Given the description of an element on the screen output the (x, y) to click on. 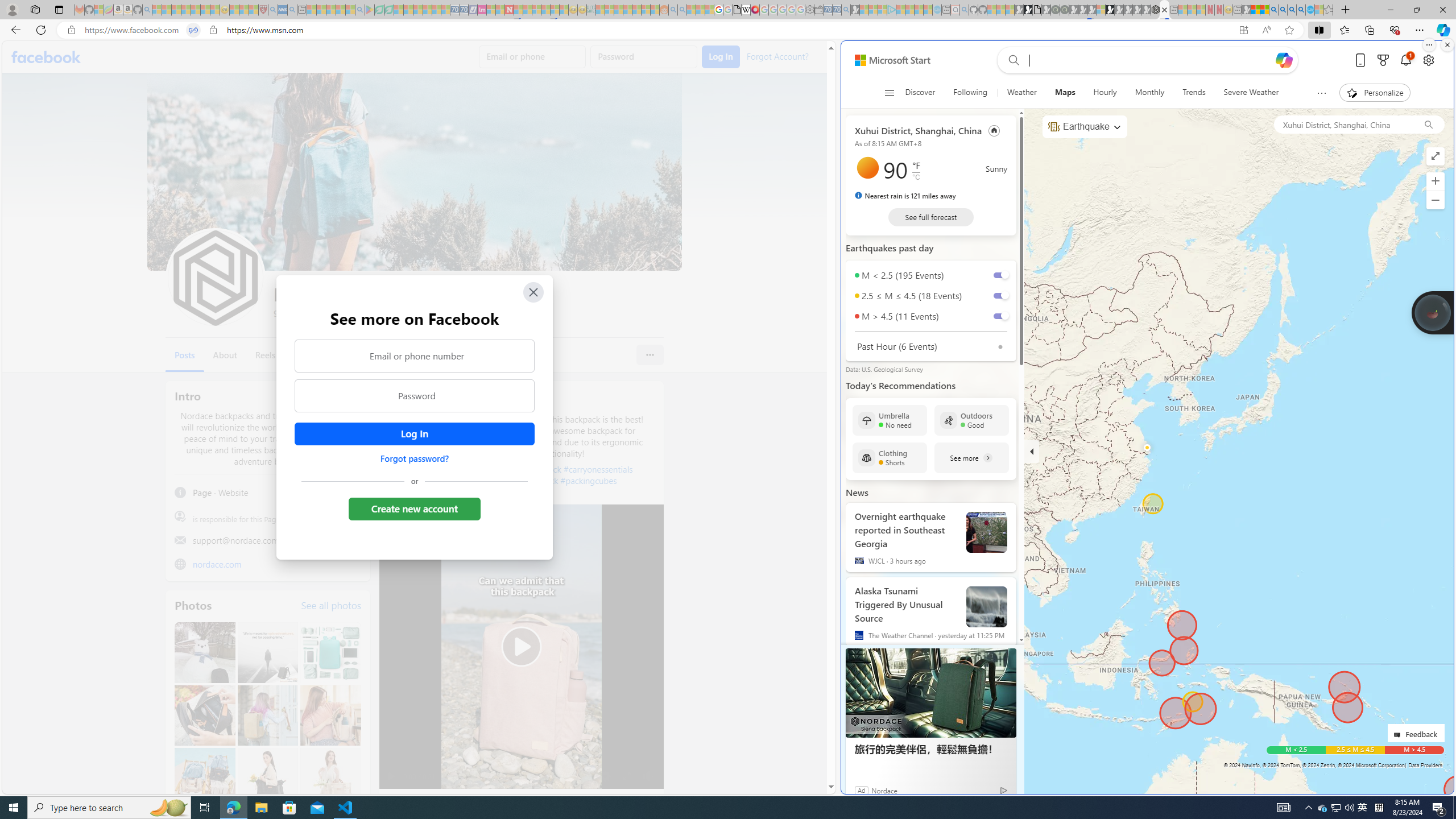
Xuhui District, Shanghai, China (1342, 124)
Trusted Community Engagement and Contributions | Guidelines (518, 9)
Trends (1193, 92)
Nearest rain is 121 miles away (905, 195)
Microsoft Start Gaming - Sleeping (854, 9)
The Weather Channel - MSN - Sleeping (175, 9)
Tabs in split screen (193, 29)
The Weather Channel (858, 634)
Hide (1032, 450)
Discover (924, 92)
Collections (1369, 29)
